Given the description of an element on the screen output the (x, y) to click on. 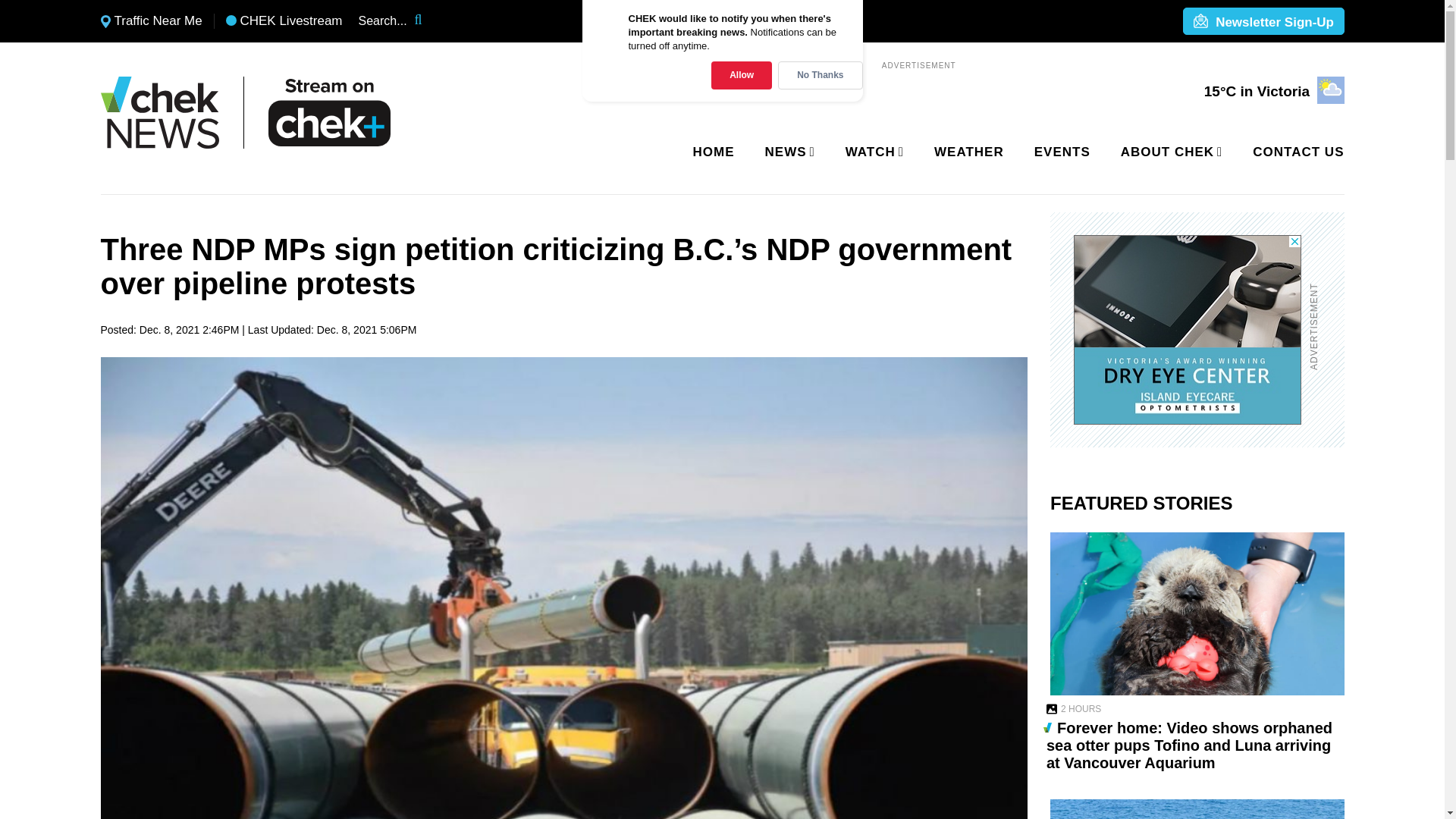
Search (428, 21)
Traffic Near Me (151, 20)
NEWS (787, 152)
HOME (714, 152)
3rd party ad content (1187, 330)
CHEK Livestream (283, 20)
Newsletter Sign-Up (1262, 22)
